Given the description of an element on the screen output the (x, y) to click on. 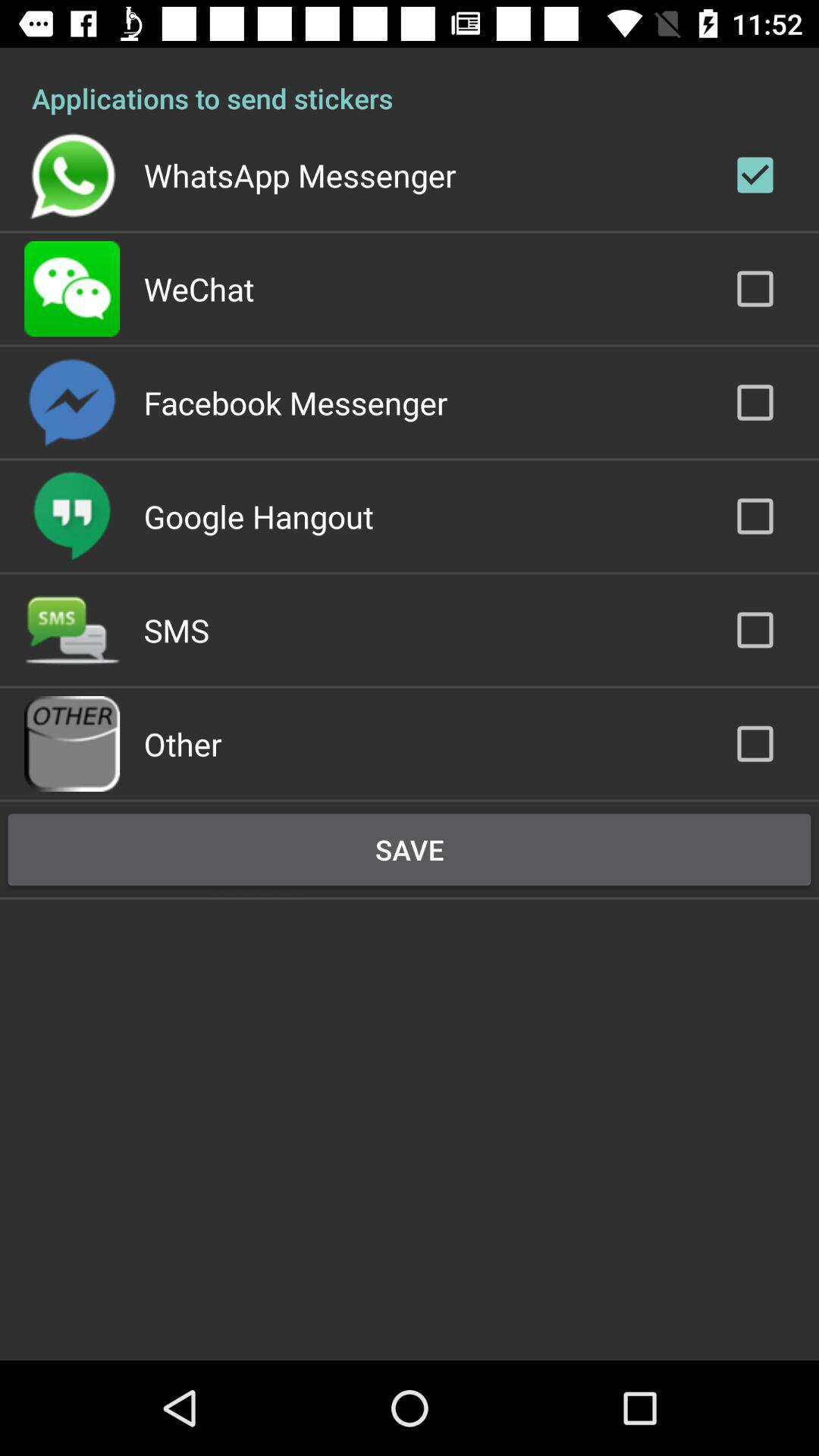
flip to the whatsapp messenger item (299, 174)
